Given the description of an element on the screen output the (x, y) to click on. 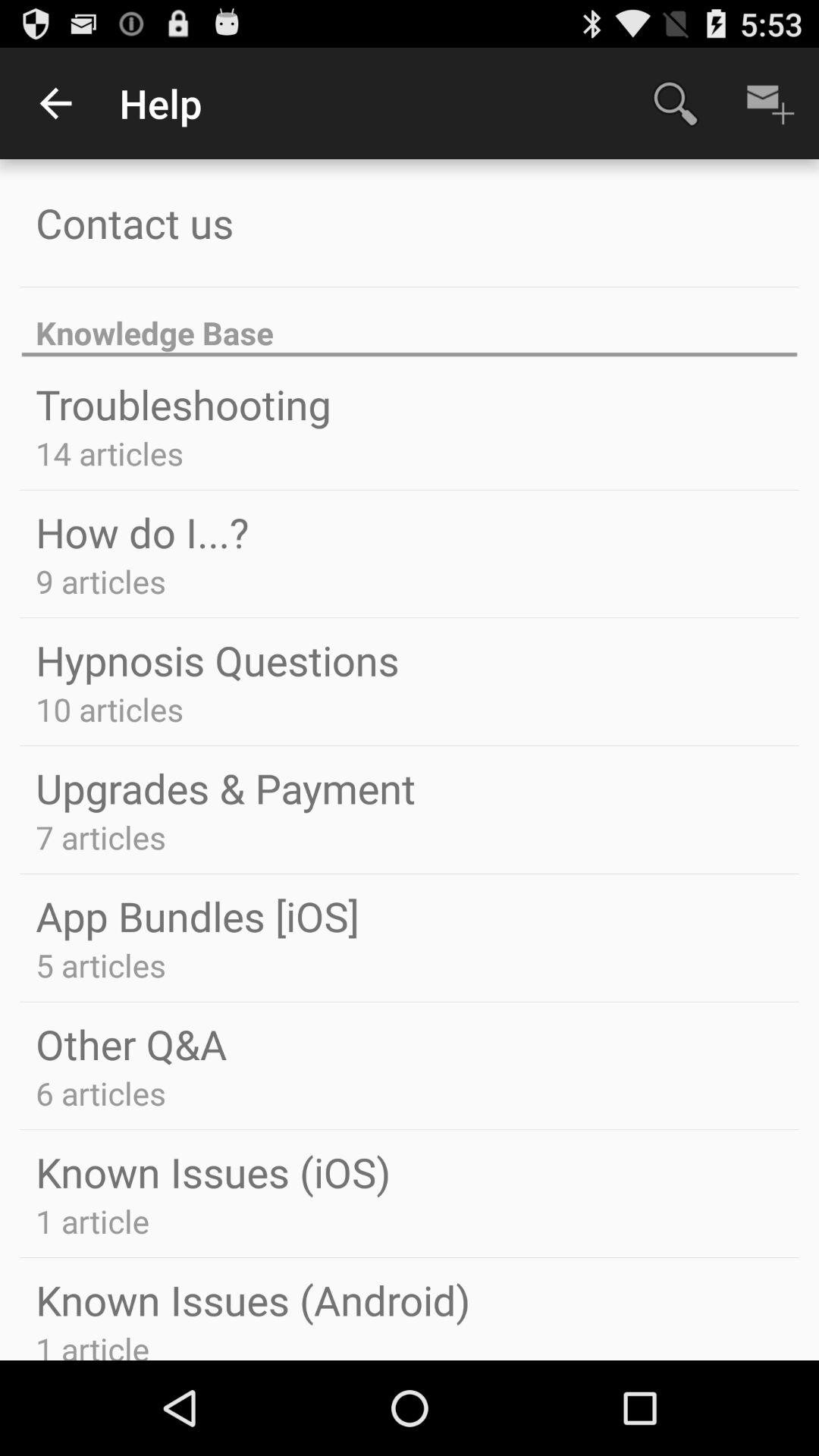
tap item below the how do i...? item (100, 580)
